Given the description of an element on the screen output the (x, y) to click on. 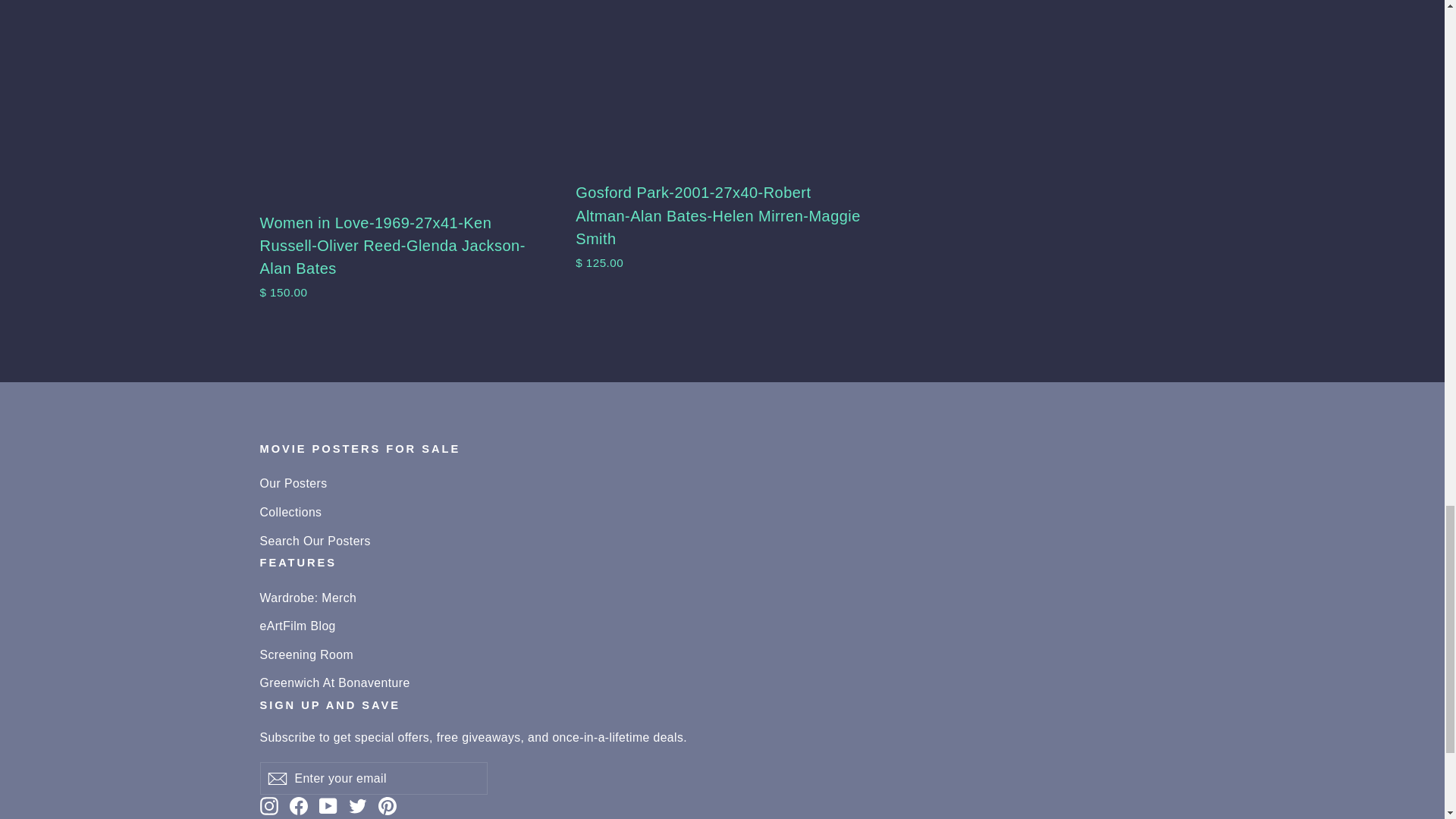
icon-email (276, 778)
twitter (357, 805)
instagram (268, 805)
eArtFilm.com on Twitter (357, 804)
eArtFilm.com on Facebook (298, 804)
eArtFilm.com on YouTube (327, 804)
